Given the description of an element on the screen output the (x, y) to click on. 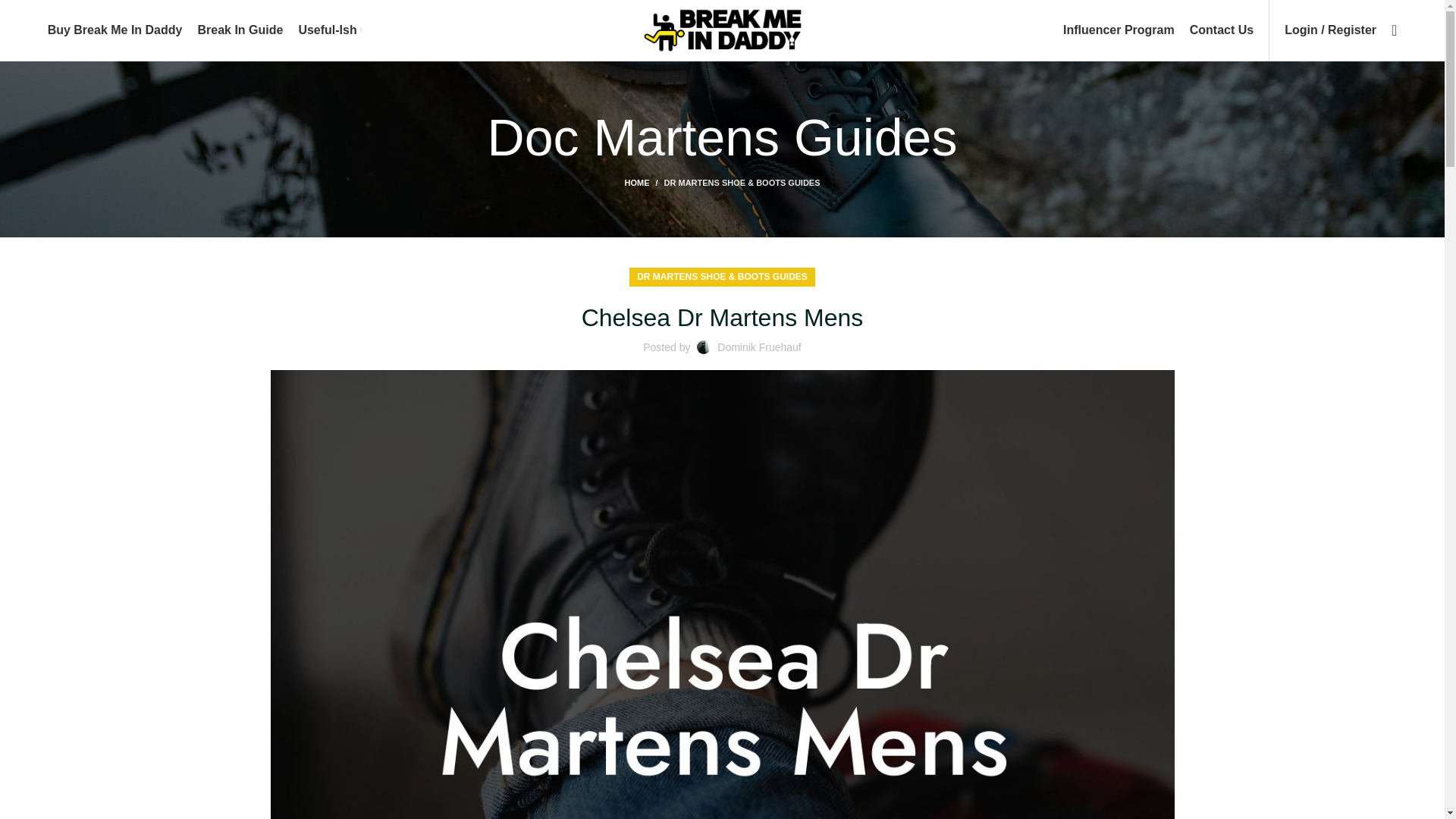
Influencer Program (1118, 30)
HOME (643, 182)
Useful-Ish (329, 30)
Contact Us (1221, 30)
My account (1330, 30)
Break In Guide (239, 30)
Dominik Fruehauf (759, 346)
Buy Break Me In Daddy (115, 30)
